Given the description of an element on the screen output the (x, y) to click on. 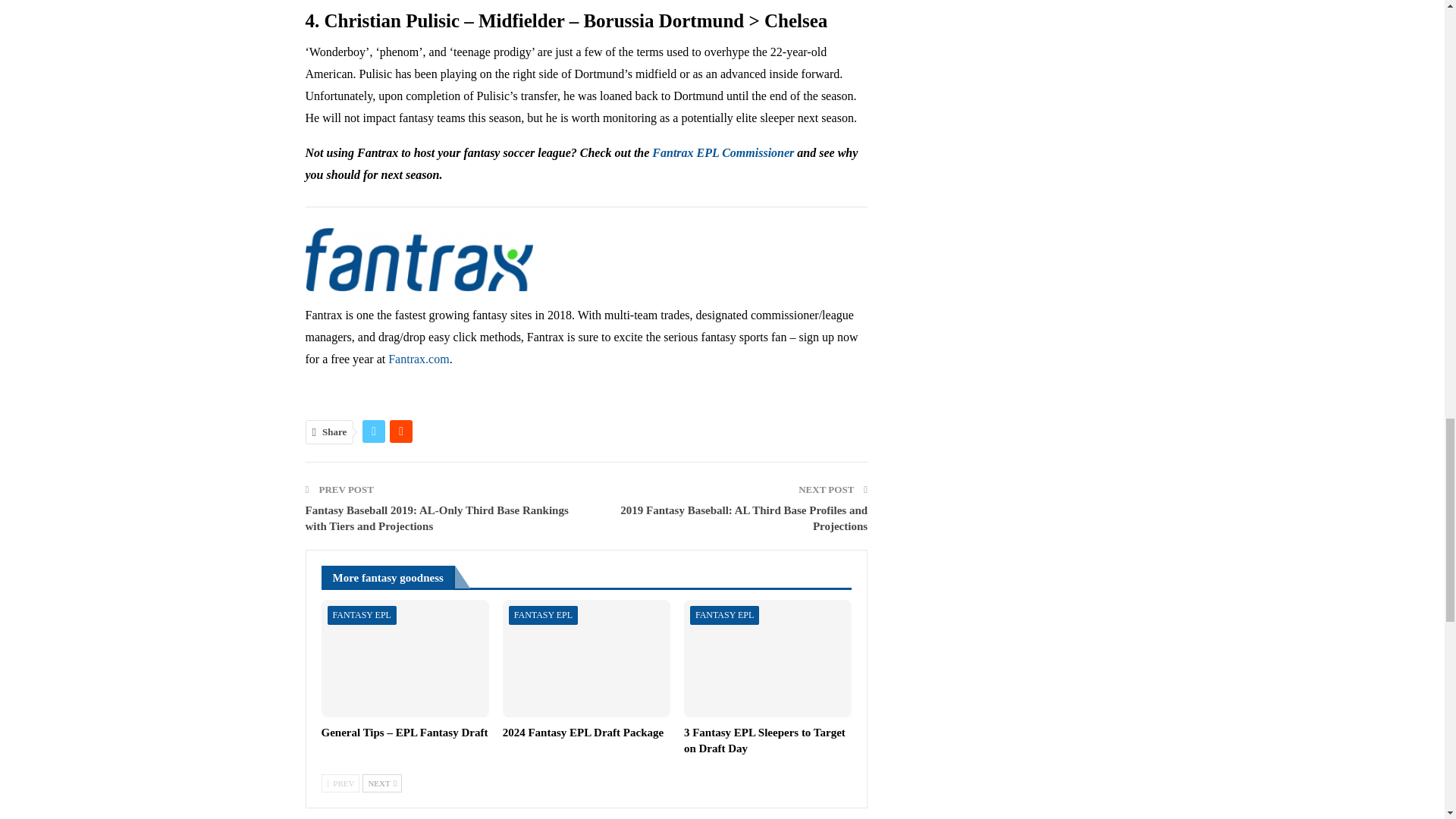
2024 Fantasy EPL Draft Package (585, 658)
2024 Fantasy EPL Draft Package (582, 732)
3 Fantasy EPL Sleepers to Target on Draft Day (767, 658)
